Given the description of an element on the screen output the (x, y) to click on. 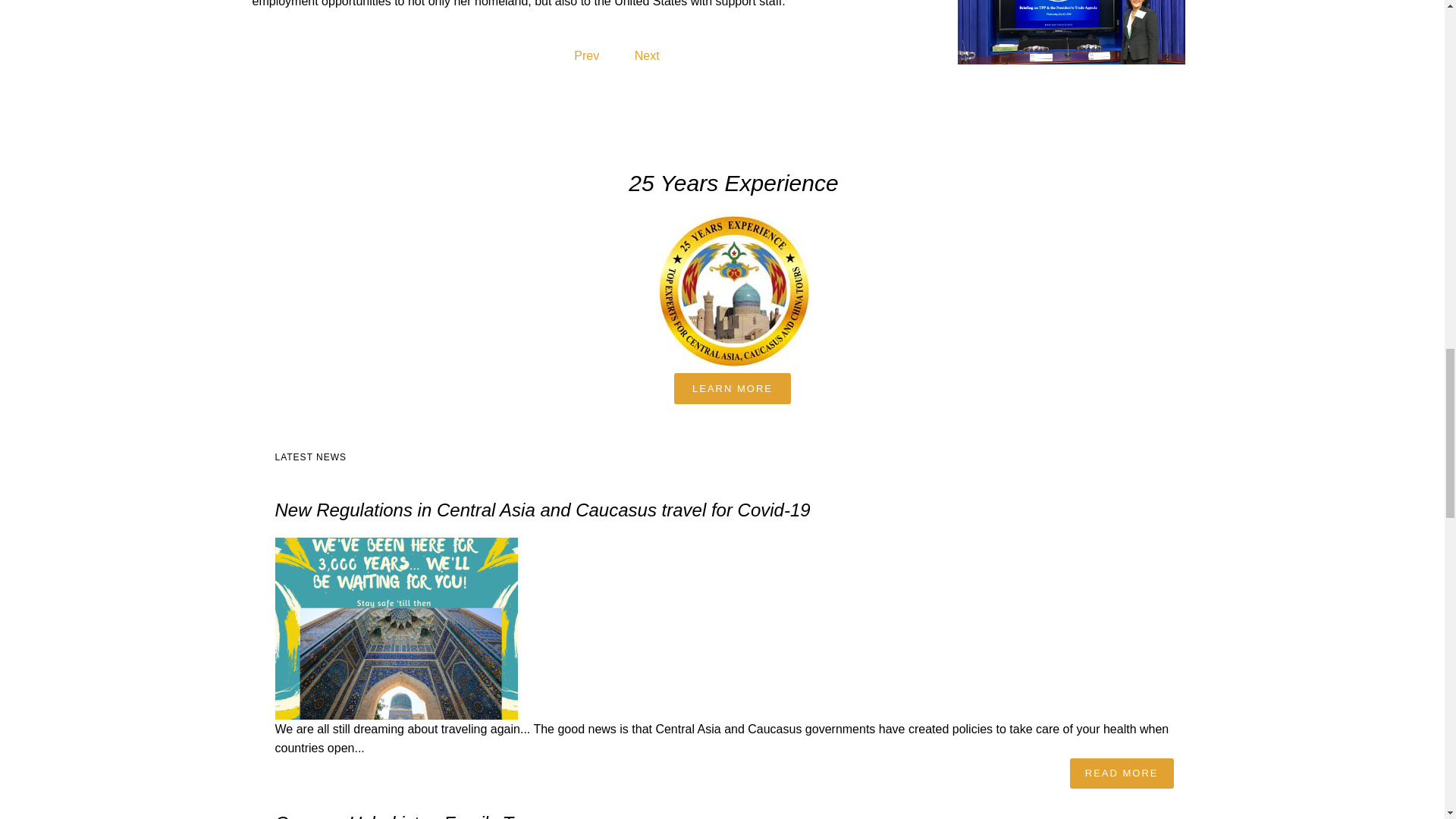
Prev (585, 55)
READ MORE (1121, 773)
Our new Uzbekistan Family Tour (406, 816)
High Speed Train Routes Announced for Uzbekistan! (585, 55)
Zulya's Invite to the White House Featured in Local Media (646, 55)
LEARN MORE (732, 388)
Next (646, 55)
Our new Uzbekistan Family Tour  (406, 816)
